Given the description of an element on the screen output the (x, y) to click on. 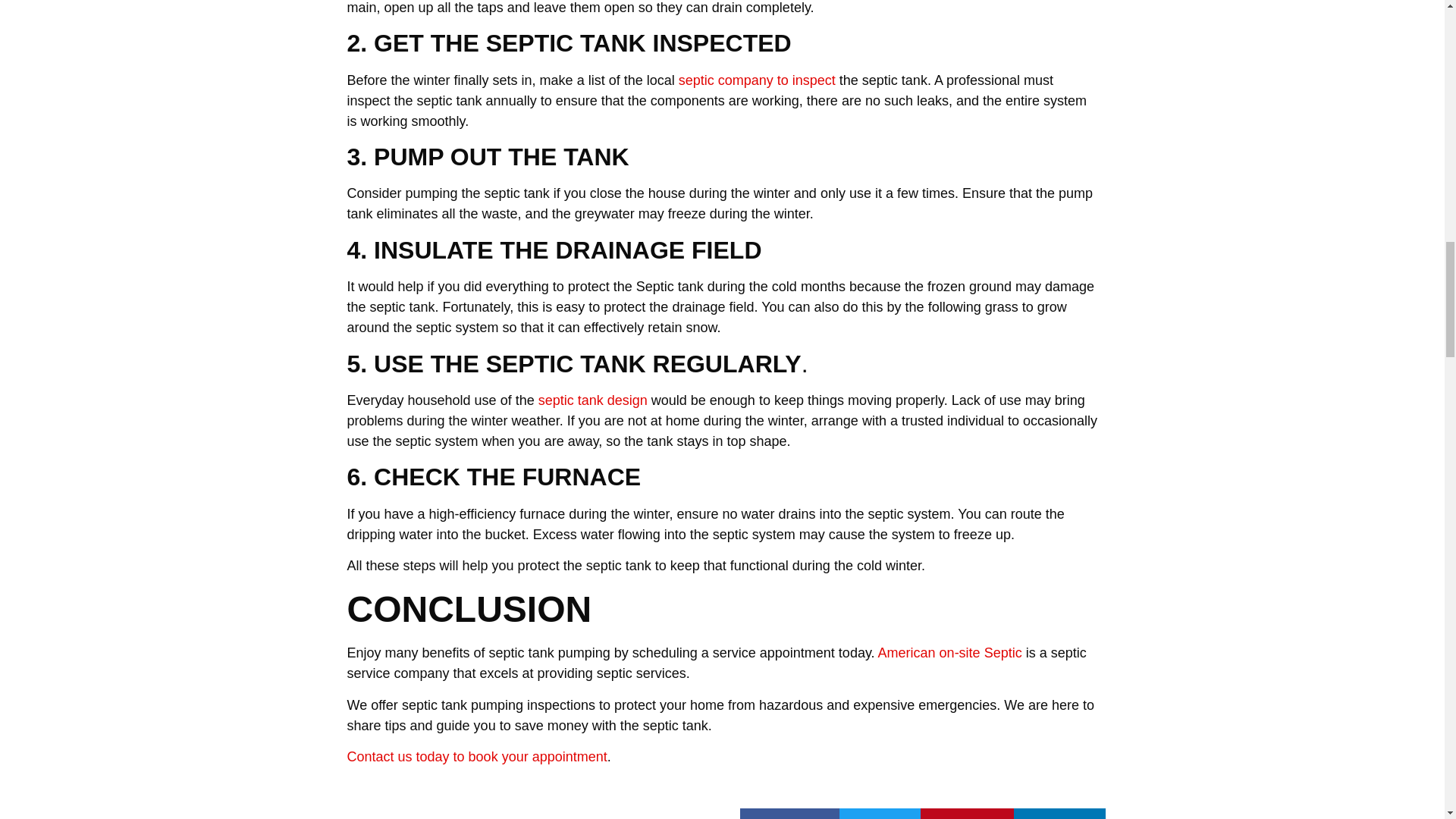
Contact us today to book your appointment (477, 756)
American on-site Septic (949, 652)
septic company to inspect (756, 79)
septic tank design (592, 400)
